Given the description of an element on the screen output the (x, y) to click on. 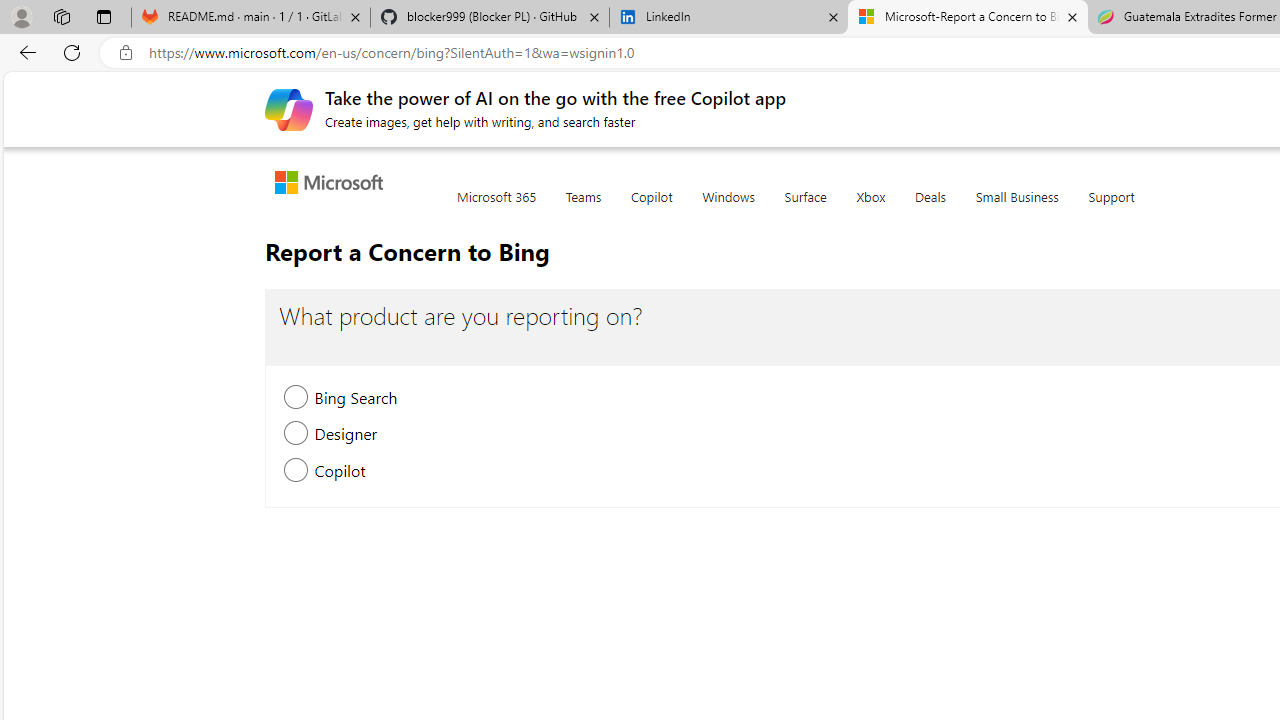
Surface (804, 208)
Surface (804, 207)
Bing Search, new section will be expanded (296, 399)
Support (1111, 207)
Teams (582, 207)
Teams (582, 208)
Support (1111, 208)
Windows (728, 207)
